Given the description of an element on the screen output the (x, y) to click on. 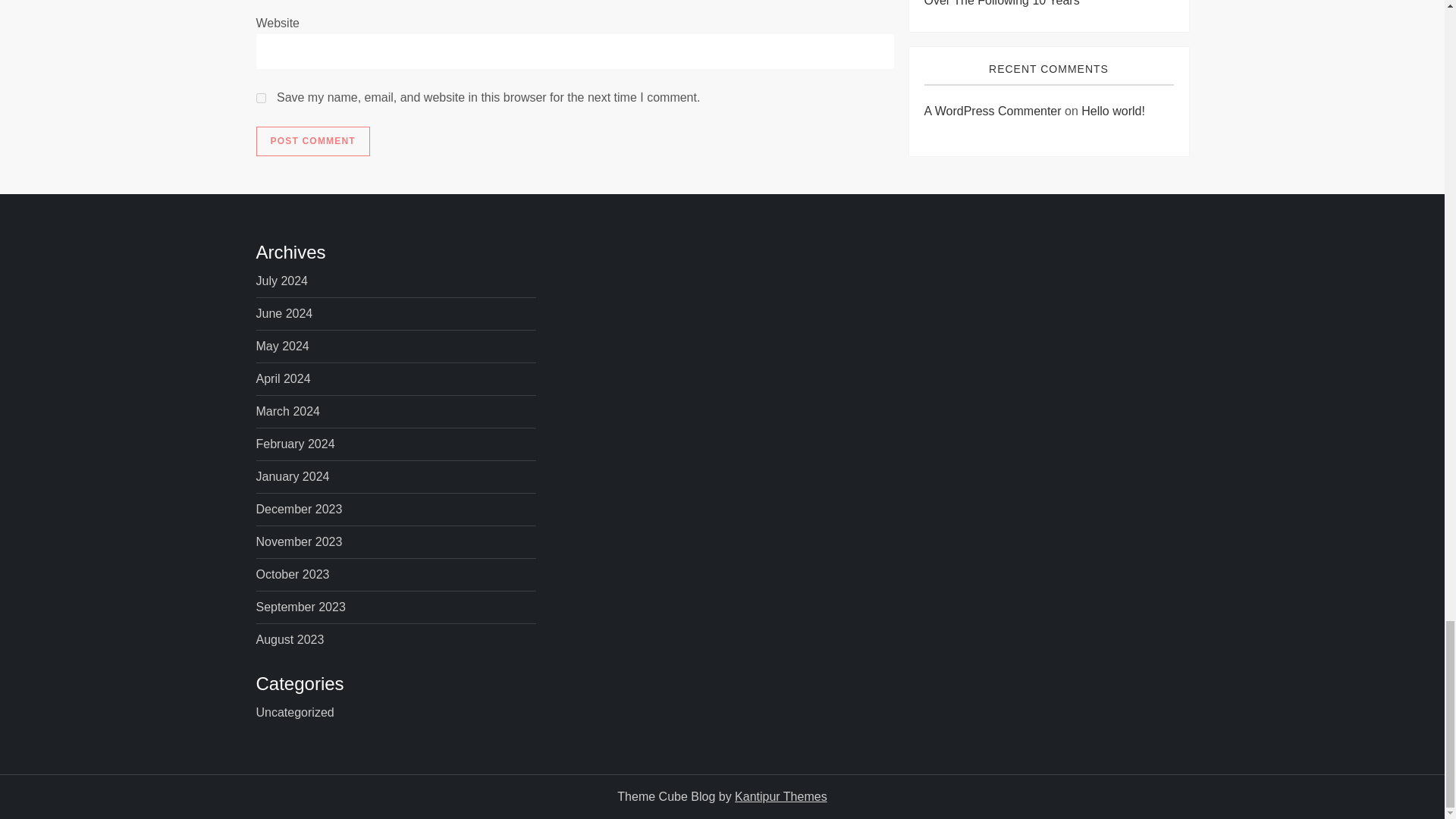
April 2024 (283, 378)
March 2024 (288, 411)
July 2024 (282, 281)
September 2023 (301, 607)
December 2023 (299, 509)
Post Comment (312, 141)
Post Comment (312, 141)
August 2023 (290, 639)
May 2024 (282, 346)
February 2024 (295, 444)
January 2024 (293, 476)
October 2023 (293, 574)
yes (261, 98)
Kantipur Themes (781, 796)
Uncategorized (295, 712)
